Given the description of an element on the screen output the (x, y) to click on. 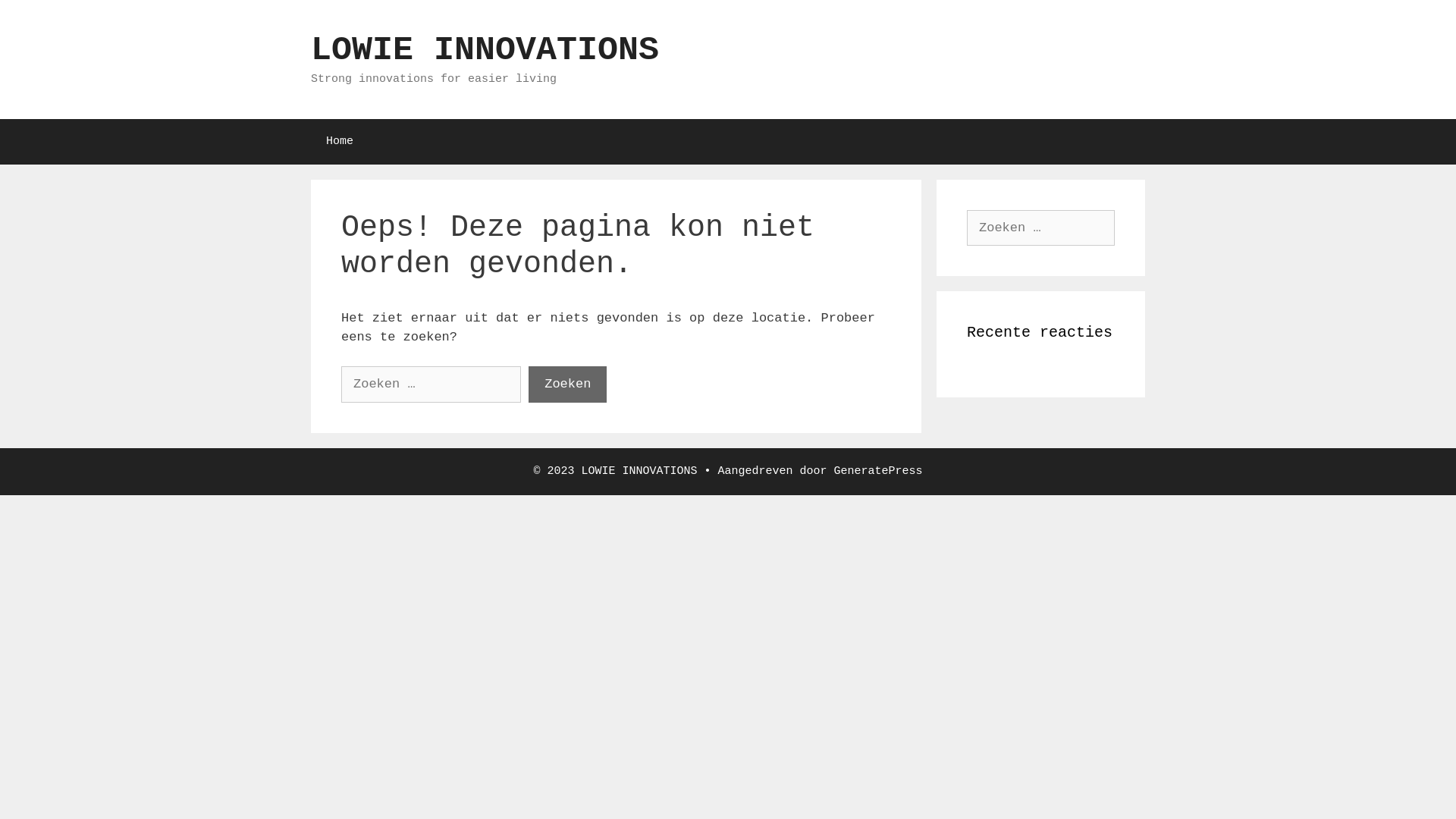
Zoek naar: Element type: hover (1040, 227)
Zoeken Element type: text (567, 384)
LOWIE INNOVATIONS Element type: text (484, 50)
Spring naar inhoud Element type: text (0, 0)
Home Element type: text (339, 140)
Zoek naar: Element type: hover (430, 384)
GeneratePress Element type: text (878, 470)
Zoeken Element type: text (39, 18)
